Given the description of an element on the screen output the (x, y) to click on. 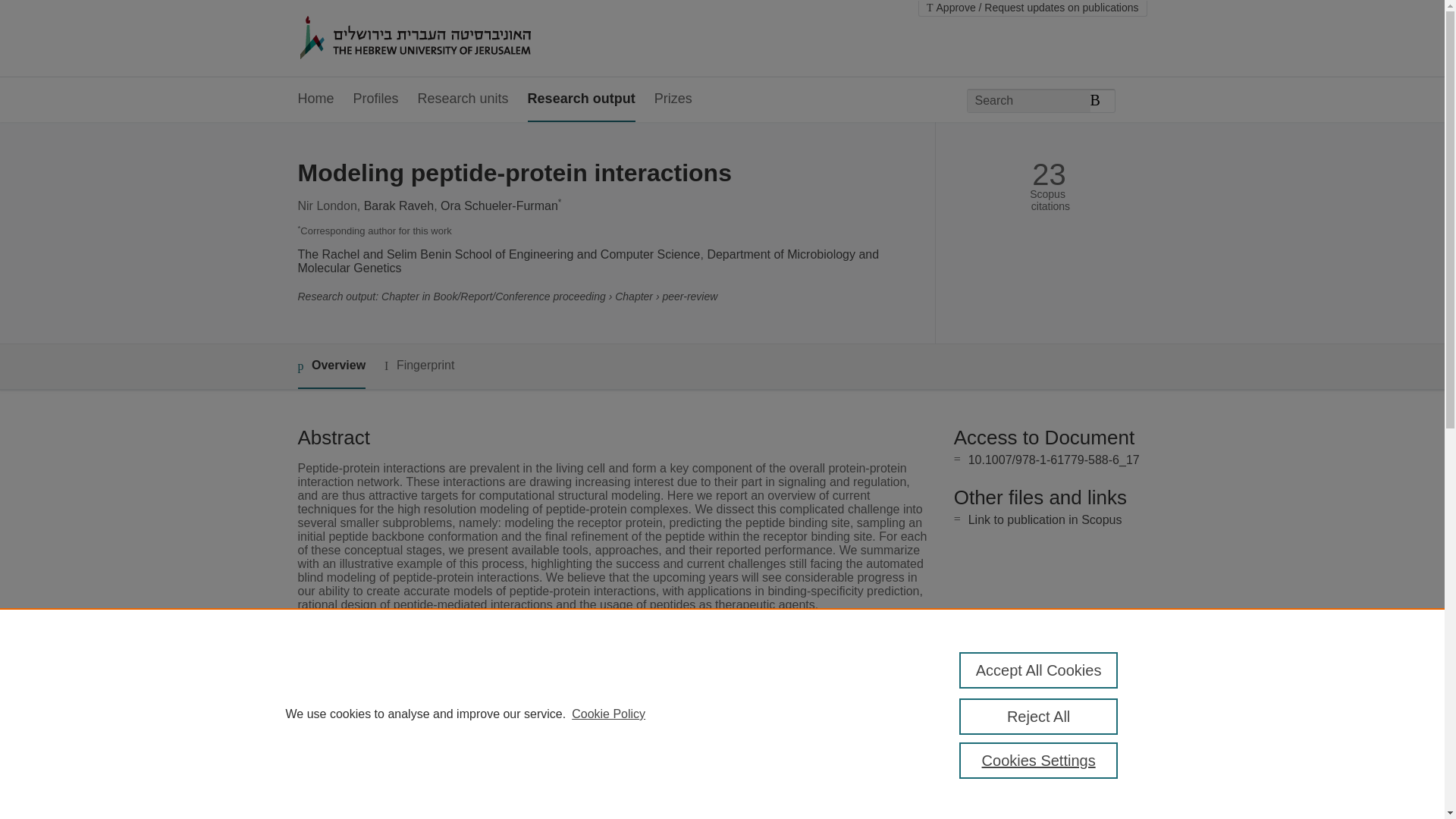
Cookies Settings (1038, 760)
Overview (331, 366)
Profiles (375, 99)
Link to publication in Scopus (1045, 519)
Research units (462, 99)
The Hebrew University of Jerusalem Home (447, 38)
Barak Raveh (398, 205)
Cookie Policy (608, 713)
